Given the description of an element on the screen output the (x, y) to click on. 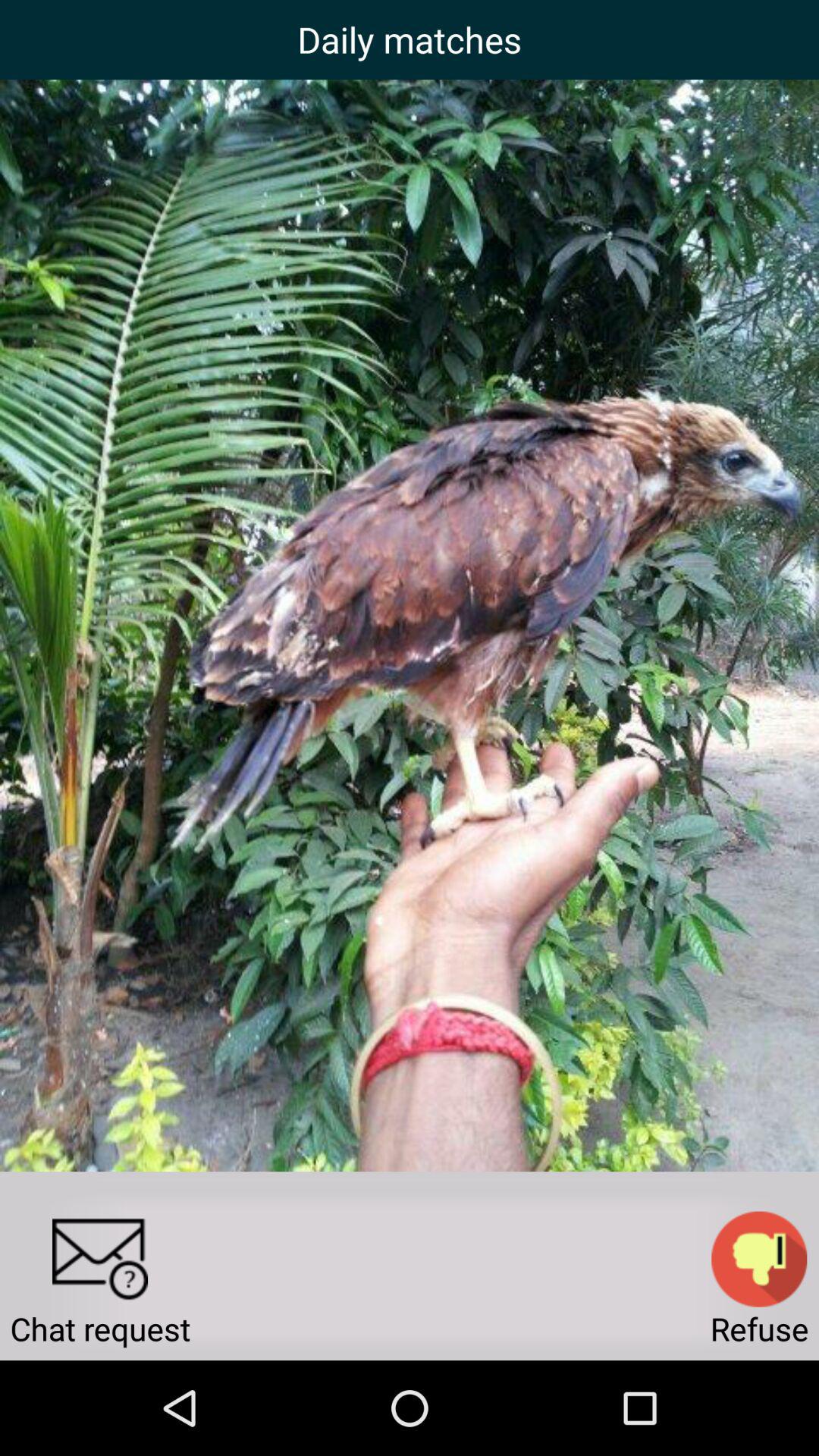
choose the item next to the chat request icon (759, 1258)
